Given the description of an element on the screen output the (x, y) to click on. 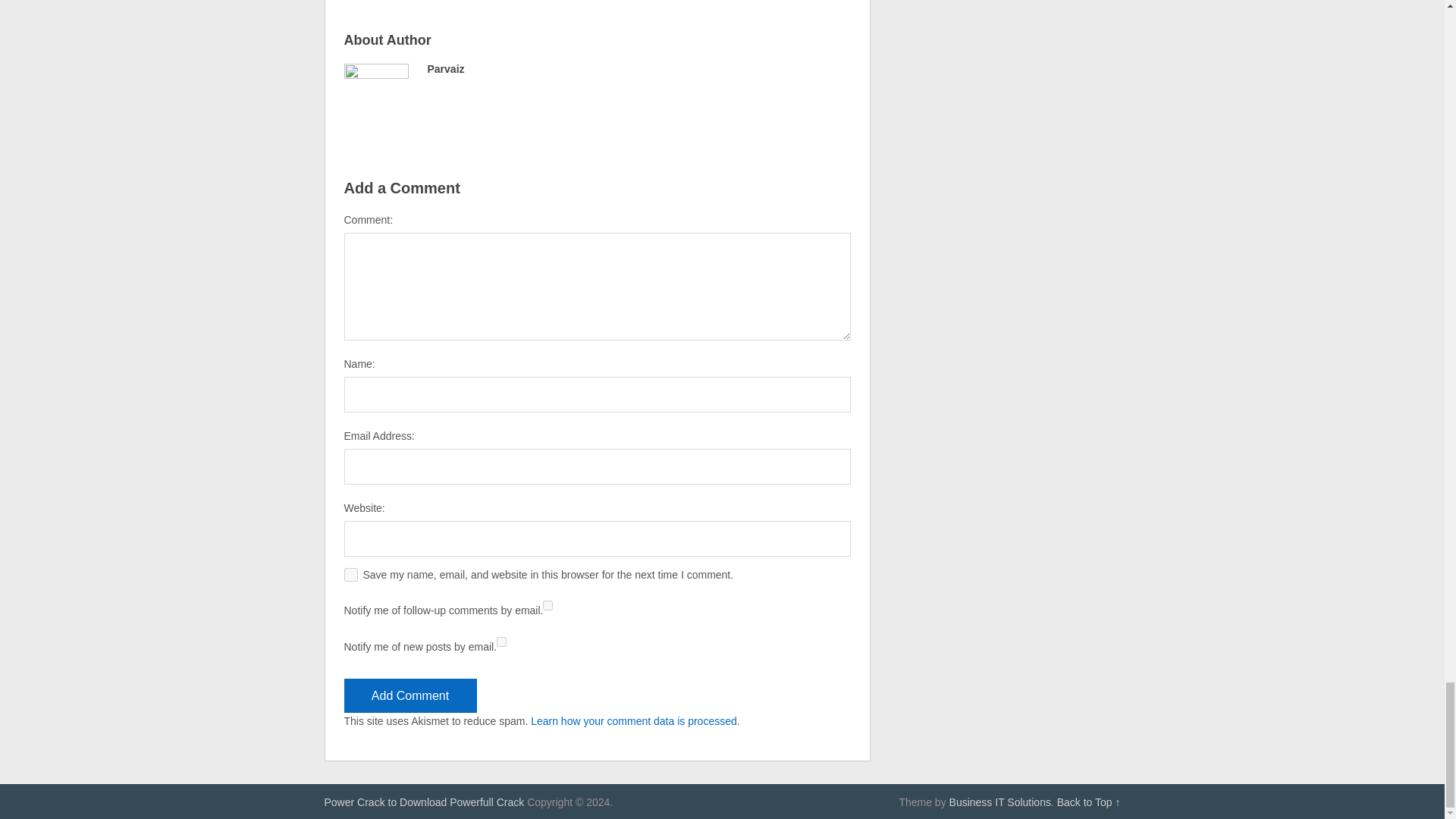
Add Comment (410, 695)
yes (350, 574)
subscribe (501, 642)
subscribe (548, 605)
